Given the description of an element on the screen output the (x, y) to click on. 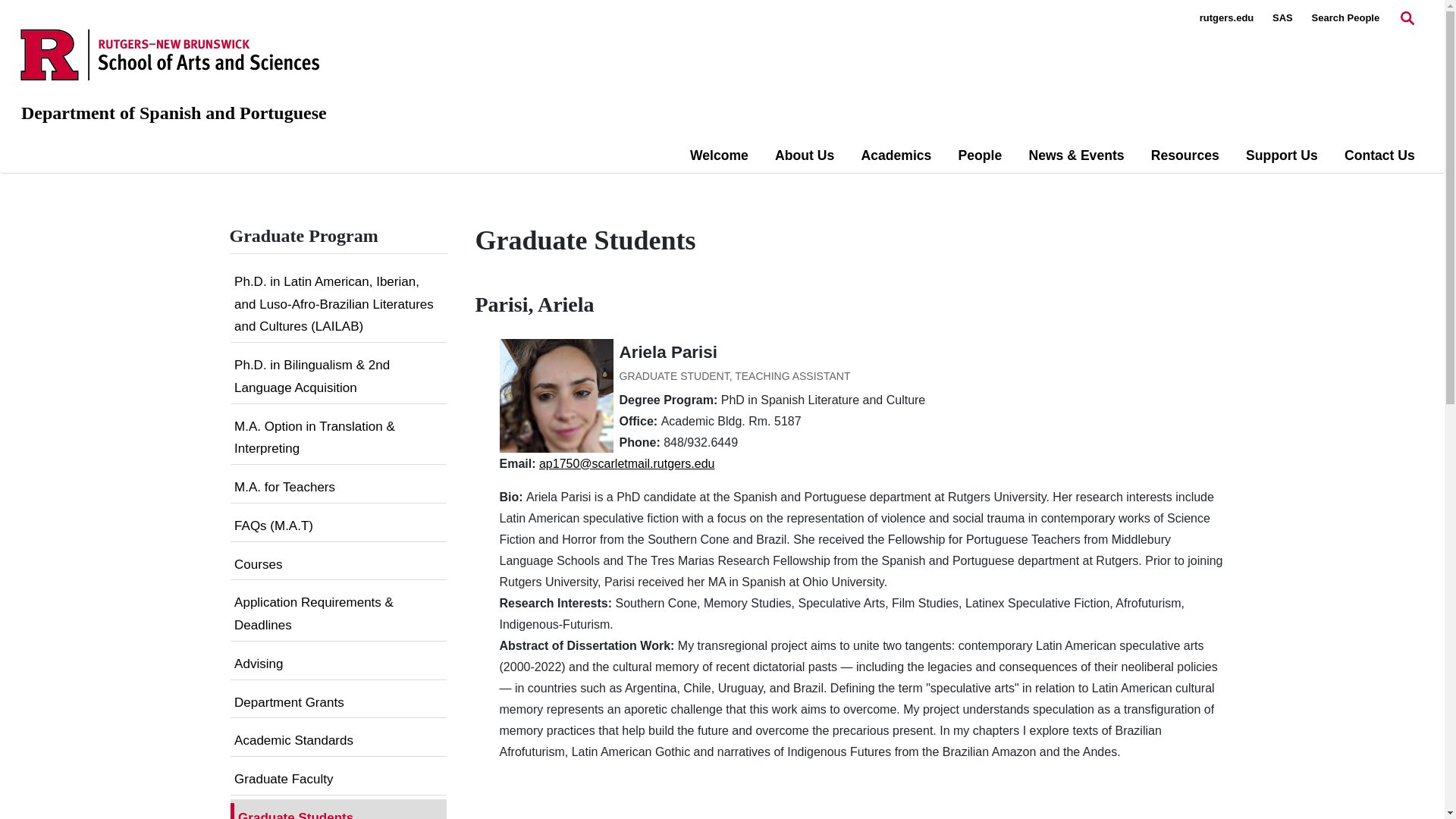
rutgers.edu (1226, 17)
Support Us (1281, 155)
Search People (1345, 17)
Welcome (719, 155)
Contact Us (1379, 155)
About Us (804, 155)
Department of Spanish and Portuguese (173, 112)
Resources (1185, 155)
Academics (895, 155)
People (980, 155)
